Given the description of an element on the screen output the (x, y) to click on. 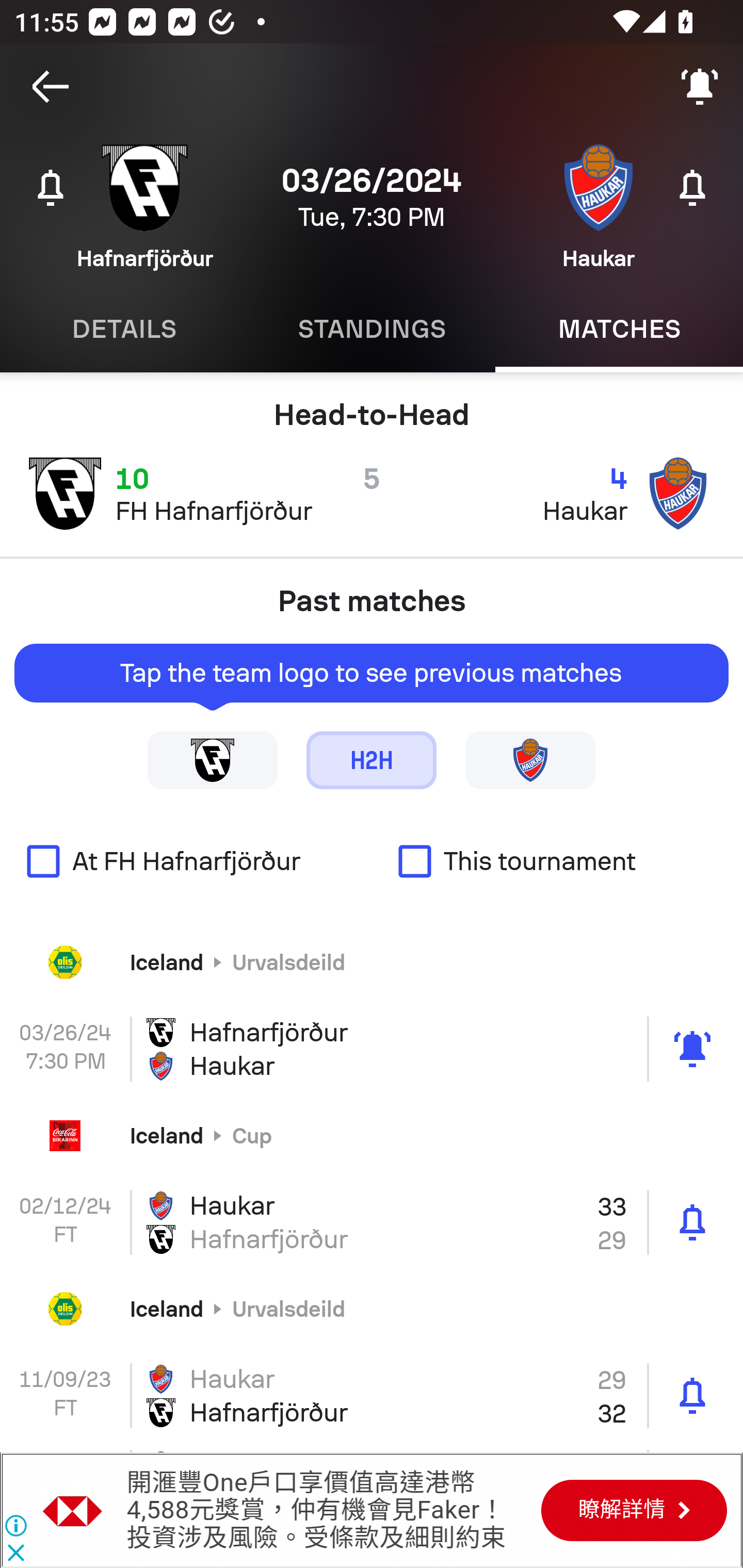
Navigate up (50, 86)
Details DETAILS (123, 329)
Standings STANDINGS (371, 329)
H2H (371, 759)
At FH Hafnarfjörður (185, 861)
This tournament (556, 861)
Iceland Urvalsdeild (371, 961)
03/26/24 7:30 PM Hafnarfjörður Haukar (371, 1048)
Iceland Cup (371, 1135)
02/12/24 FT Haukar 33 Hafnarfjörður 29 (371, 1222)
Iceland Urvalsdeild (371, 1308)
11/09/23 FT Haukar 29 Hafnarfjörður 32 (371, 1395)
滙豐 (73, 1510)
瞭解詳情 (634, 1509)
